Given the description of an element on the screen output the (x, y) to click on. 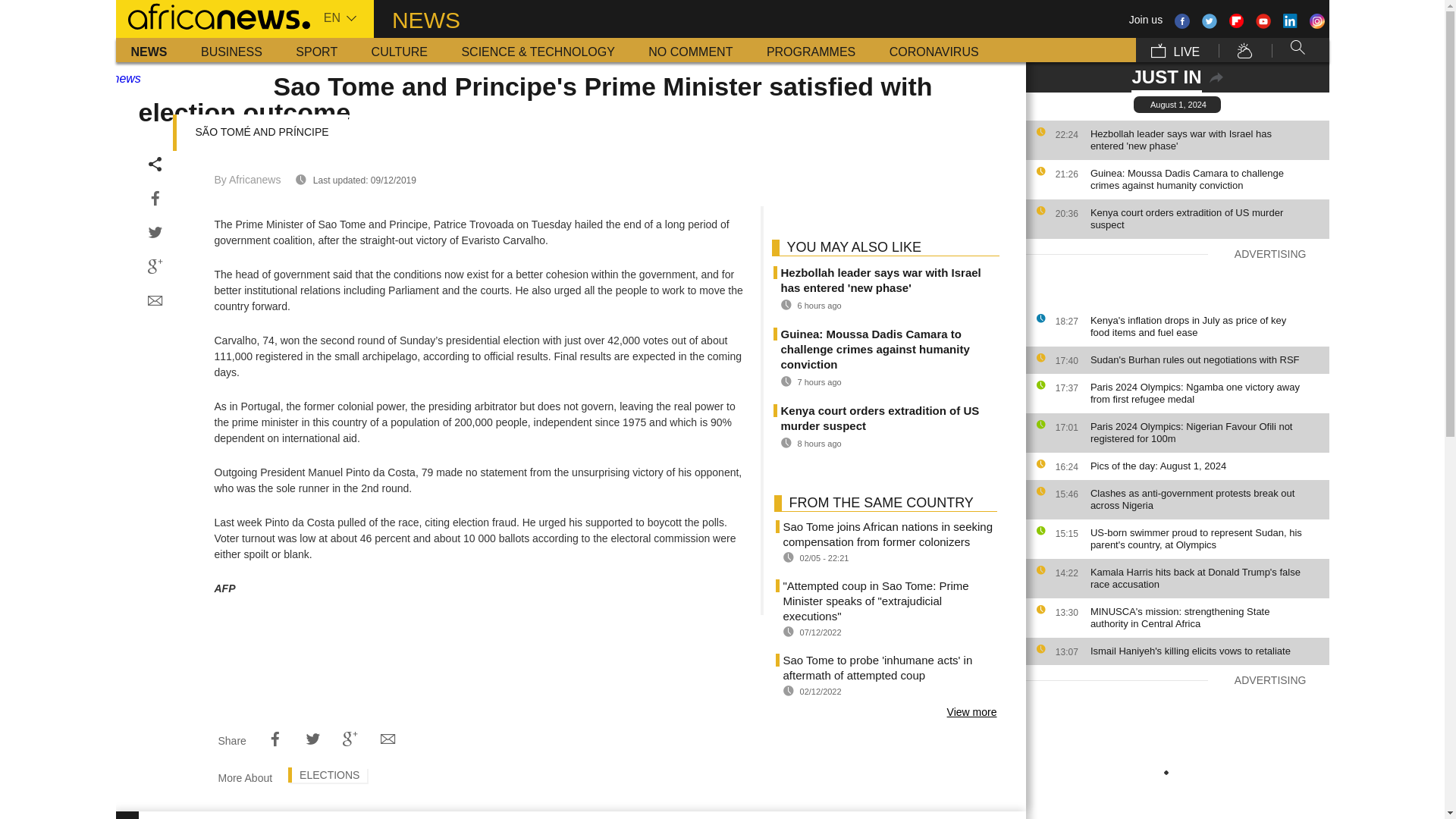
Business (232, 49)
SPORT (316, 49)
Sudan's Burhan rules out negotiations with RSF (1206, 359)
Culture (399, 49)
Coronavirus (934, 49)
News (148, 49)
Programmes (810, 49)
Africanews (211, 15)
NO COMMENT (690, 49)
Kenya court orders extradition of US murder suspect (1206, 218)
NEWS (148, 49)
LIVE (1174, 49)
